Given the description of an element on the screen output the (x, y) to click on. 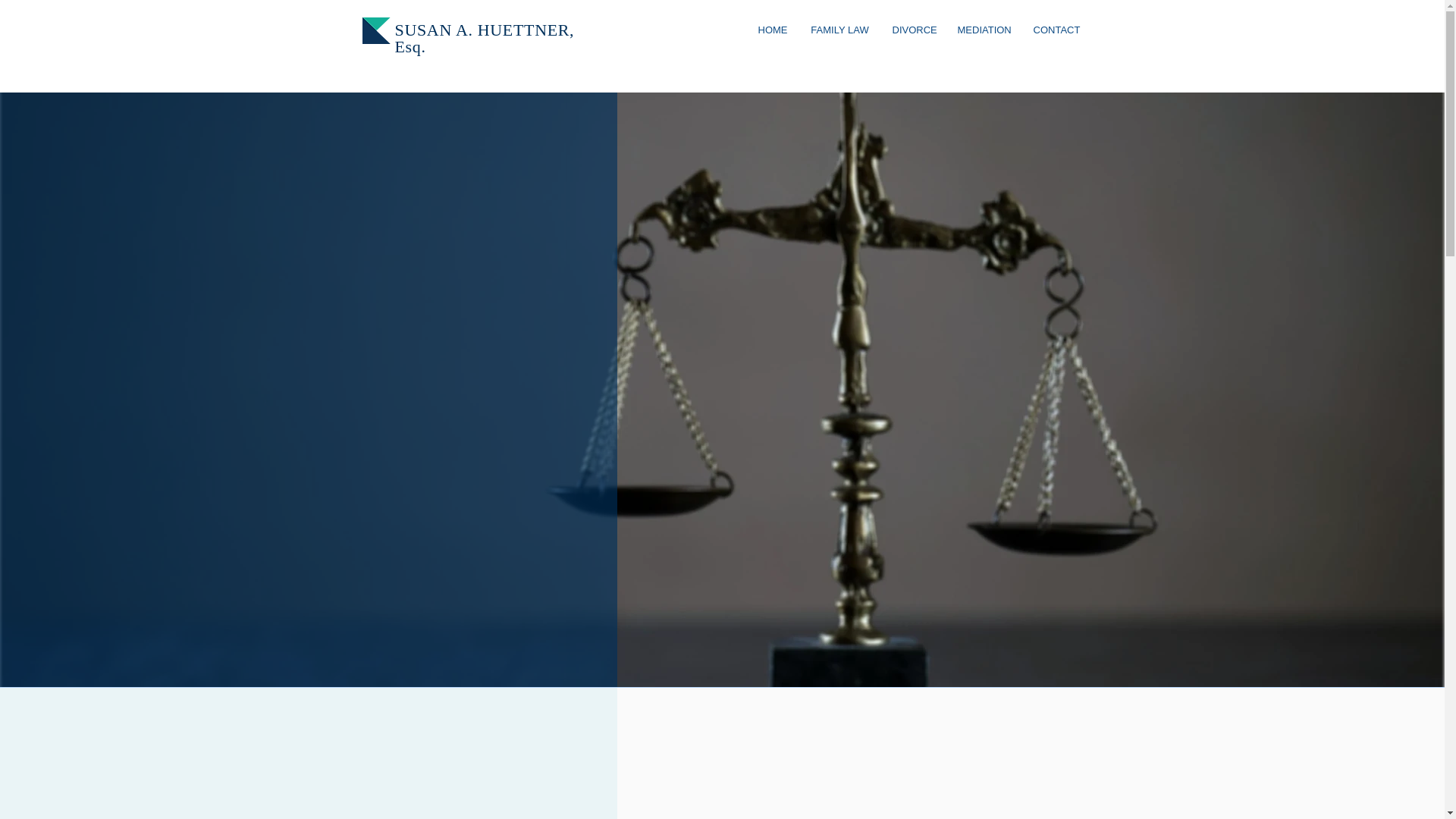
MEDIATION (984, 29)
FAMILY LAW (839, 29)
SUSAN A. HUETTNER, Esq. (483, 38)
DIVORCE (913, 29)
CONTACT (1057, 29)
HOME (771, 29)
